Given the description of an element on the screen output the (x, y) to click on. 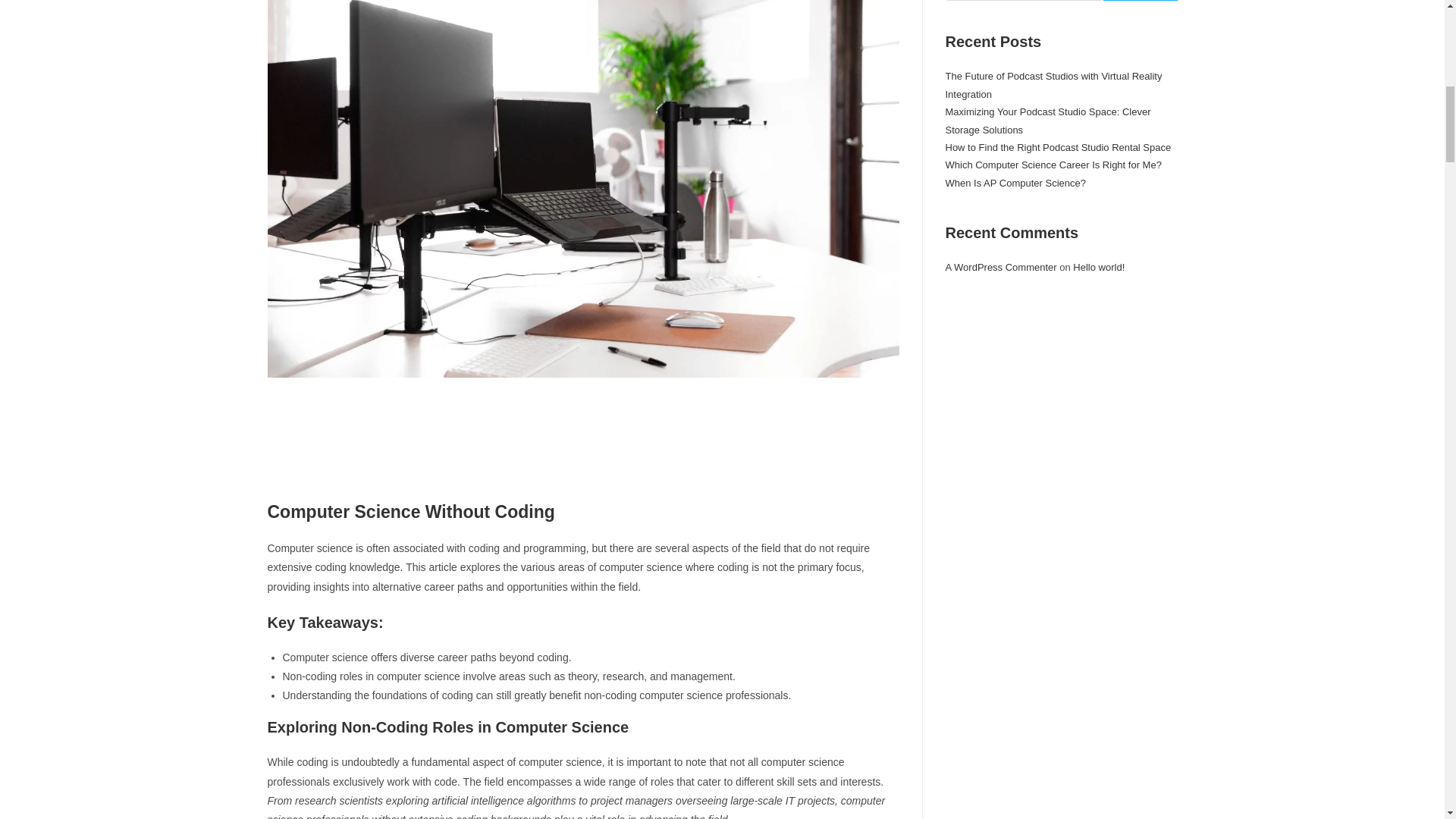
Hello world! (1098, 266)
When Is AP Computer Science? (1014, 183)
How to Find the Right Podcast Studio Rental Space (1057, 147)
Which Computer Science Career Is Right for Me? (1052, 164)
A WordPress Commenter (1000, 266)
